Given the description of an element on the screen output the (x, y) to click on. 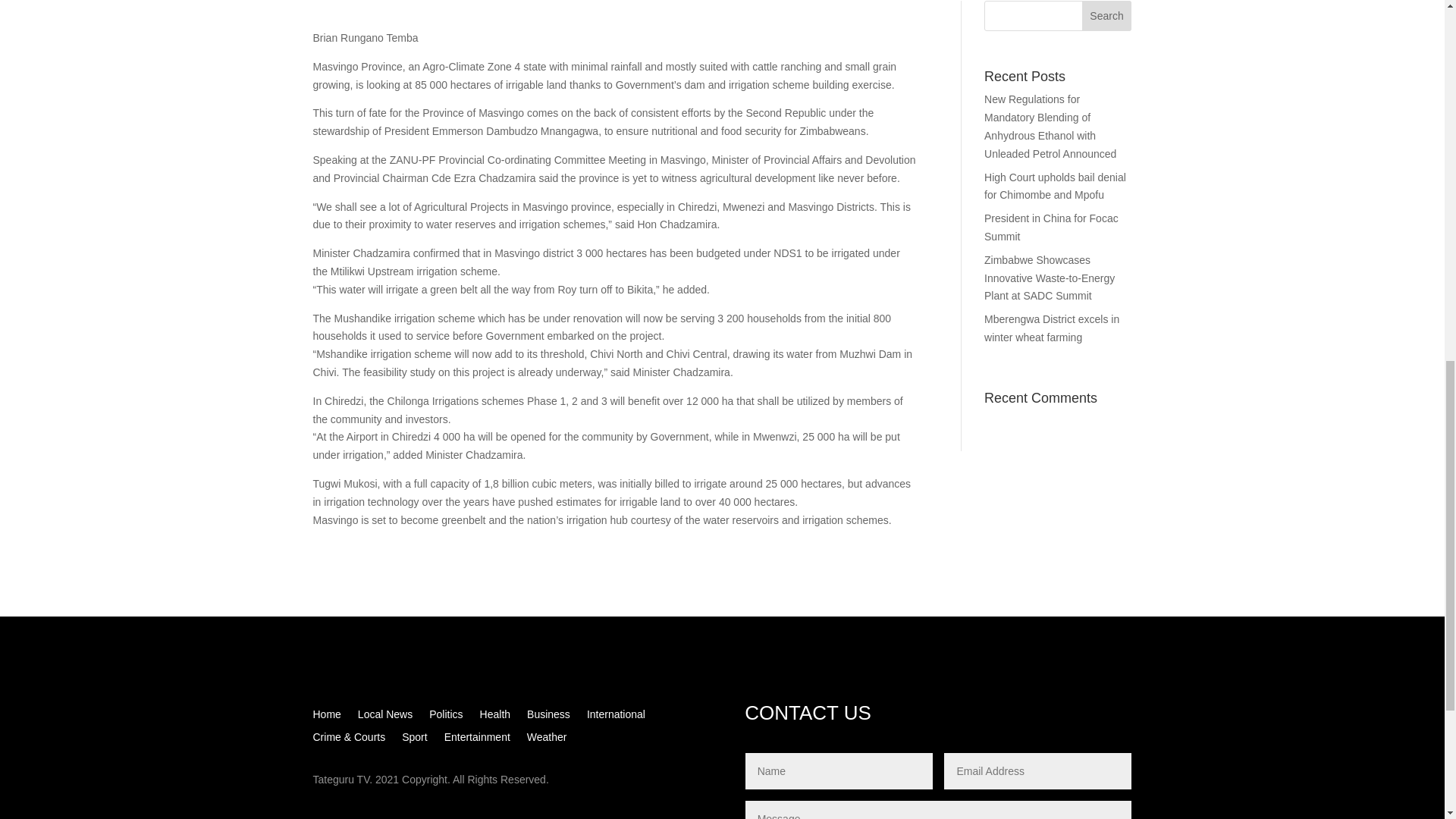
President in China for Focac Summit (1051, 227)
Home (326, 717)
Local News (385, 717)
Mberengwa District excels in winter wheat farming (1051, 327)
Search (1106, 15)
Politics (446, 717)
Search (1106, 15)
High Court upholds bail denial for Chimombe and Mpofu (1054, 186)
